Given the description of an element on the screen output the (x, y) to click on. 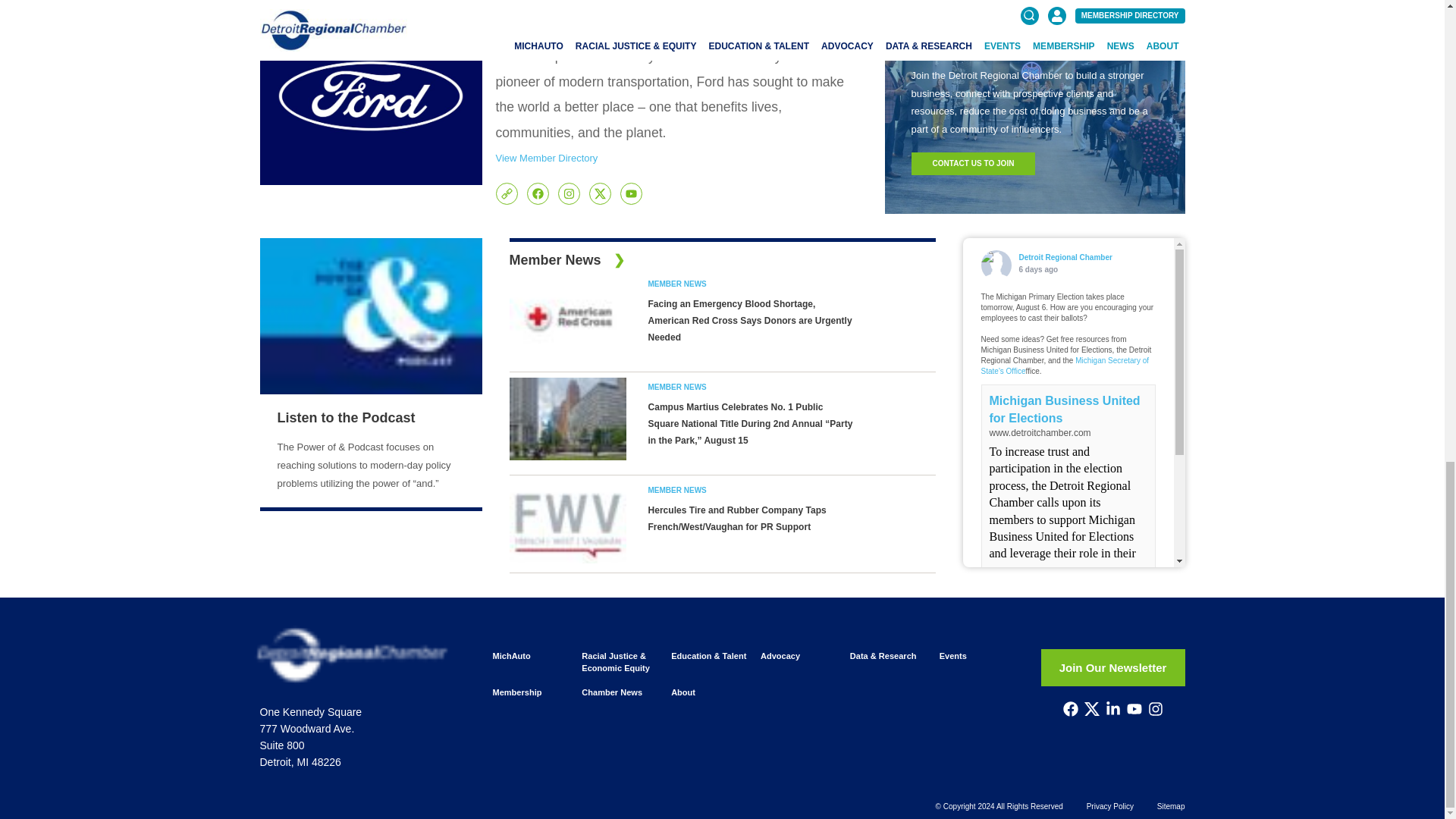
View on Facebook (1012, 709)
Detroit Regional Chamber (996, 645)
Share (1067, 600)
Detroit Regional Chamber (996, 265)
Share (1067, 709)
View on Facebook (1012, 600)
